Given the description of an element on the screen output the (x, y) to click on. 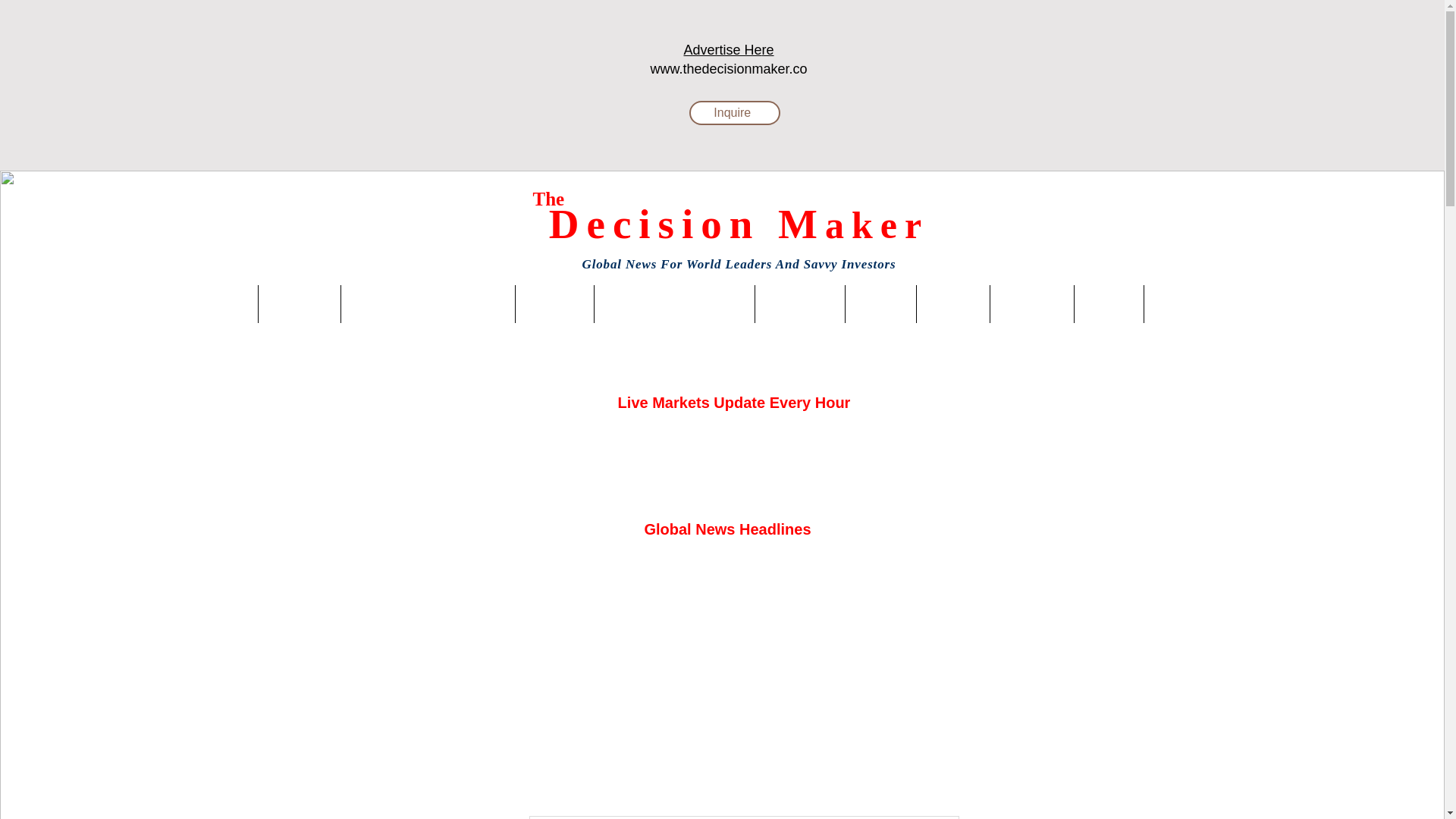
Business (299, 303)
Home (225, 303)
Subscribe (799, 303)
International Relations (427, 303)
The Club (1032, 303)
Videos (1108, 303)
Lifestyle (554, 303)
Inquire (733, 112)
Awards (953, 303)
Gallery (880, 303)
